Given the description of an element on the screen output the (x, y) to click on. 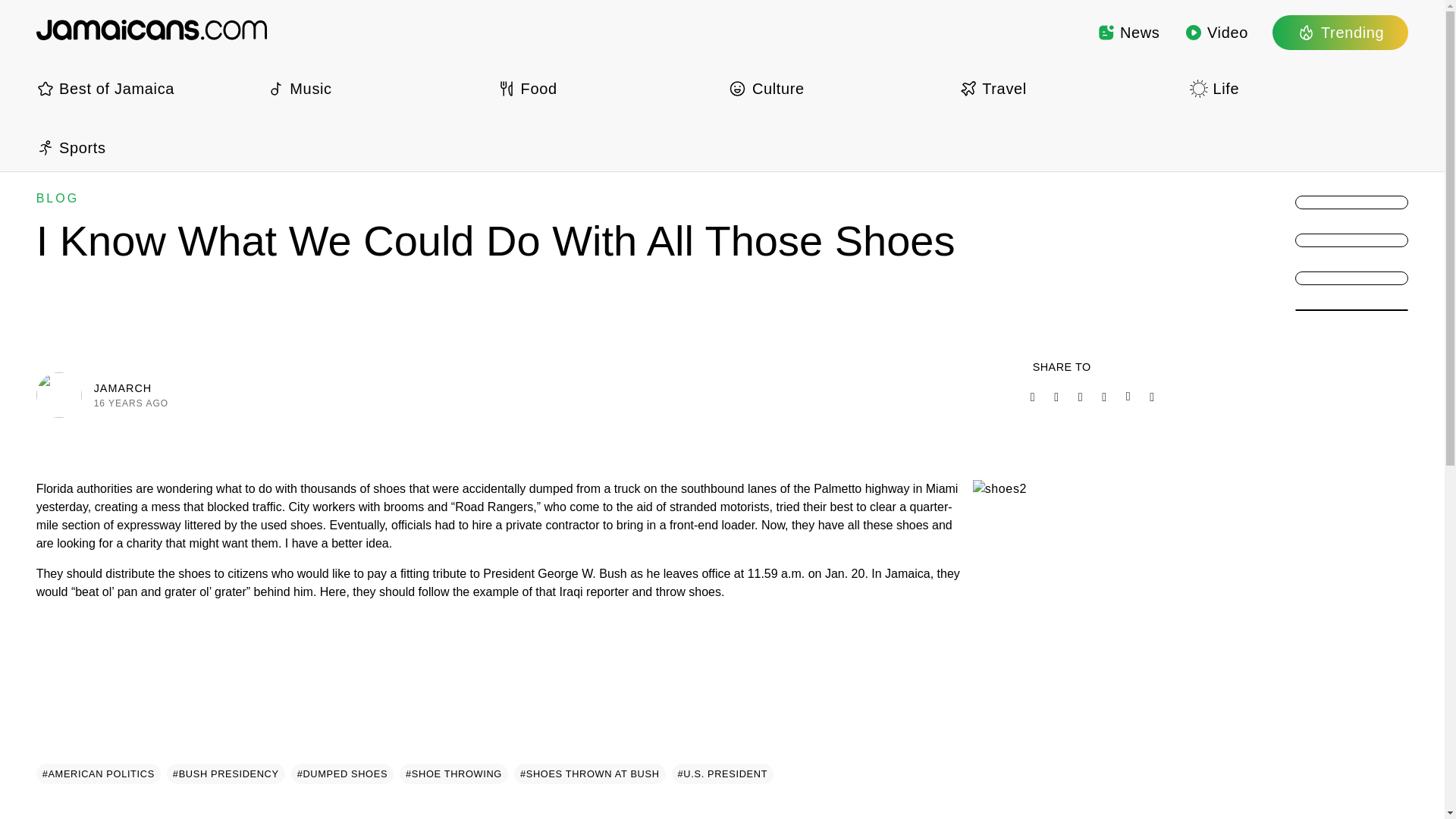
Video (1216, 32)
Music (375, 88)
News (1128, 32)
Trending (1339, 32)
BLOG (57, 197)
Best of Jamaica (145, 88)
Sports (145, 147)
Food (606, 88)
Culture (837, 88)
Travel (1068, 88)
Life (1298, 88)
